Given the description of an element on the screen output the (x, y) to click on. 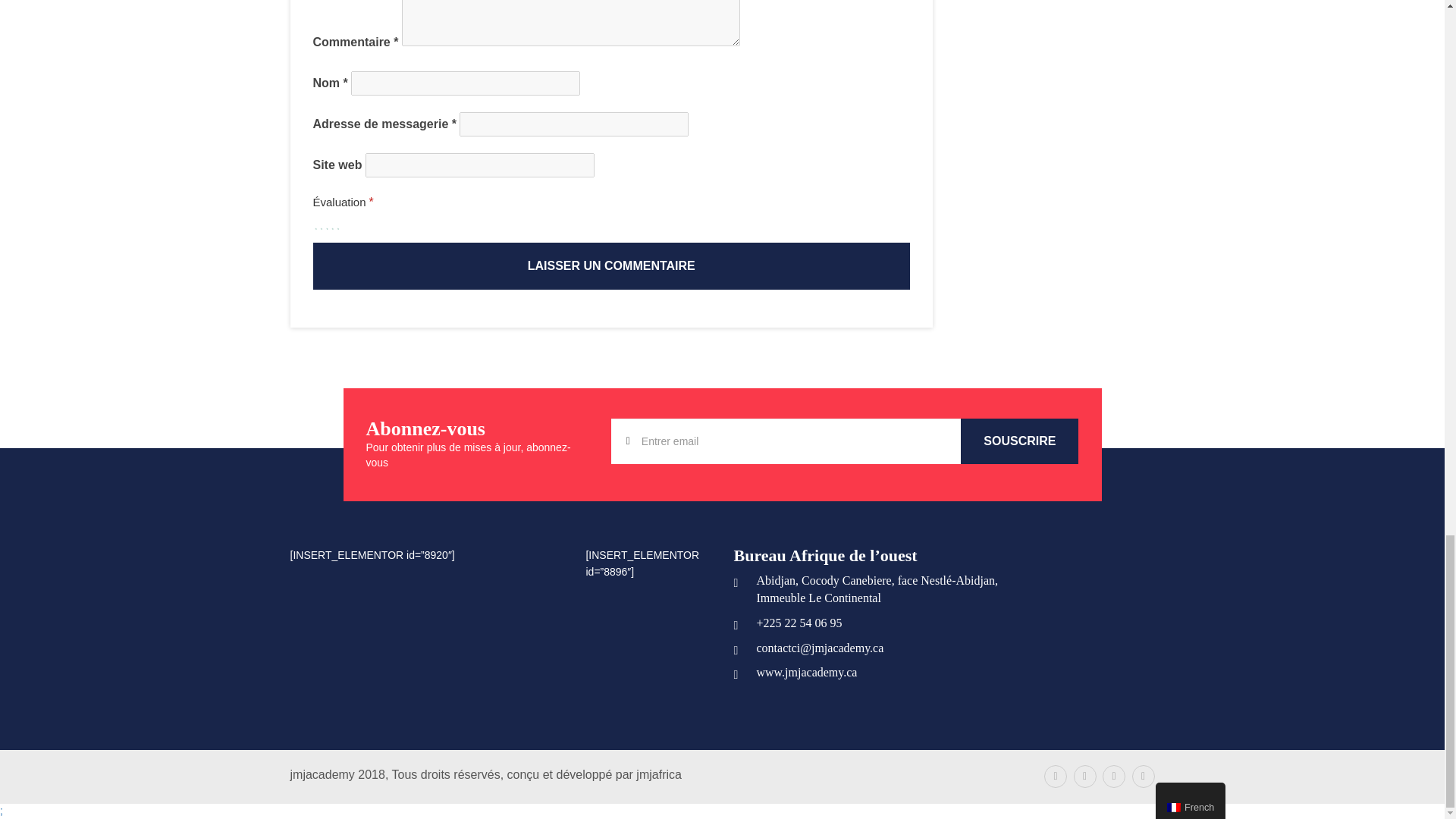
Laisser un commentaire (611, 265)
Souscrire (1019, 441)
Laisser un commentaire (611, 265)
Souscrire (1019, 441)
